Given the description of an element on the screen output the (x, y) to click on. 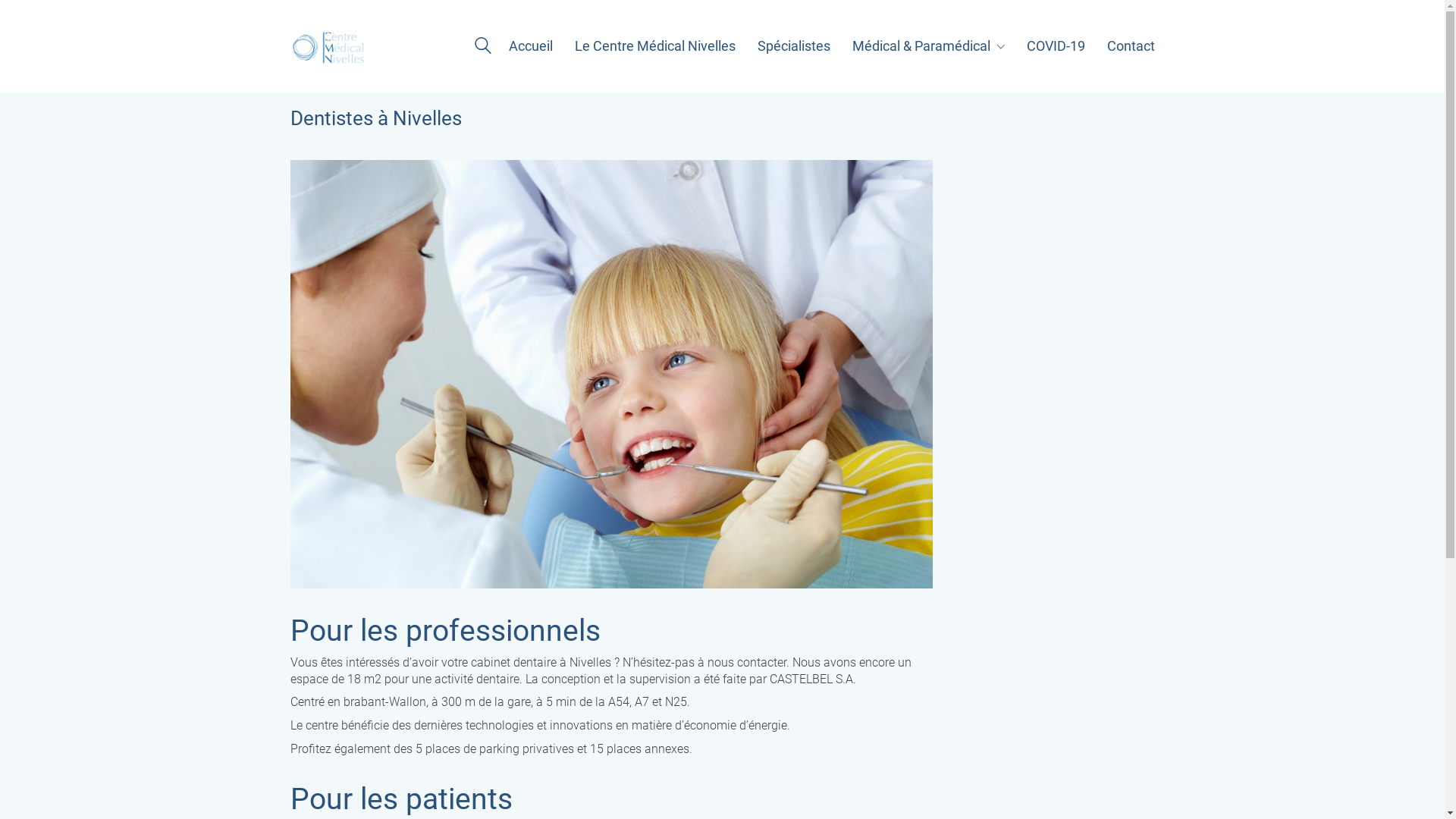
COVID-19 Element type: text (1055, 45)
Contact Element type: text (1130, 45)
Accueil Element type: text (530, 45)
